Given the description of an element on the screen output the (x, y) to click on. 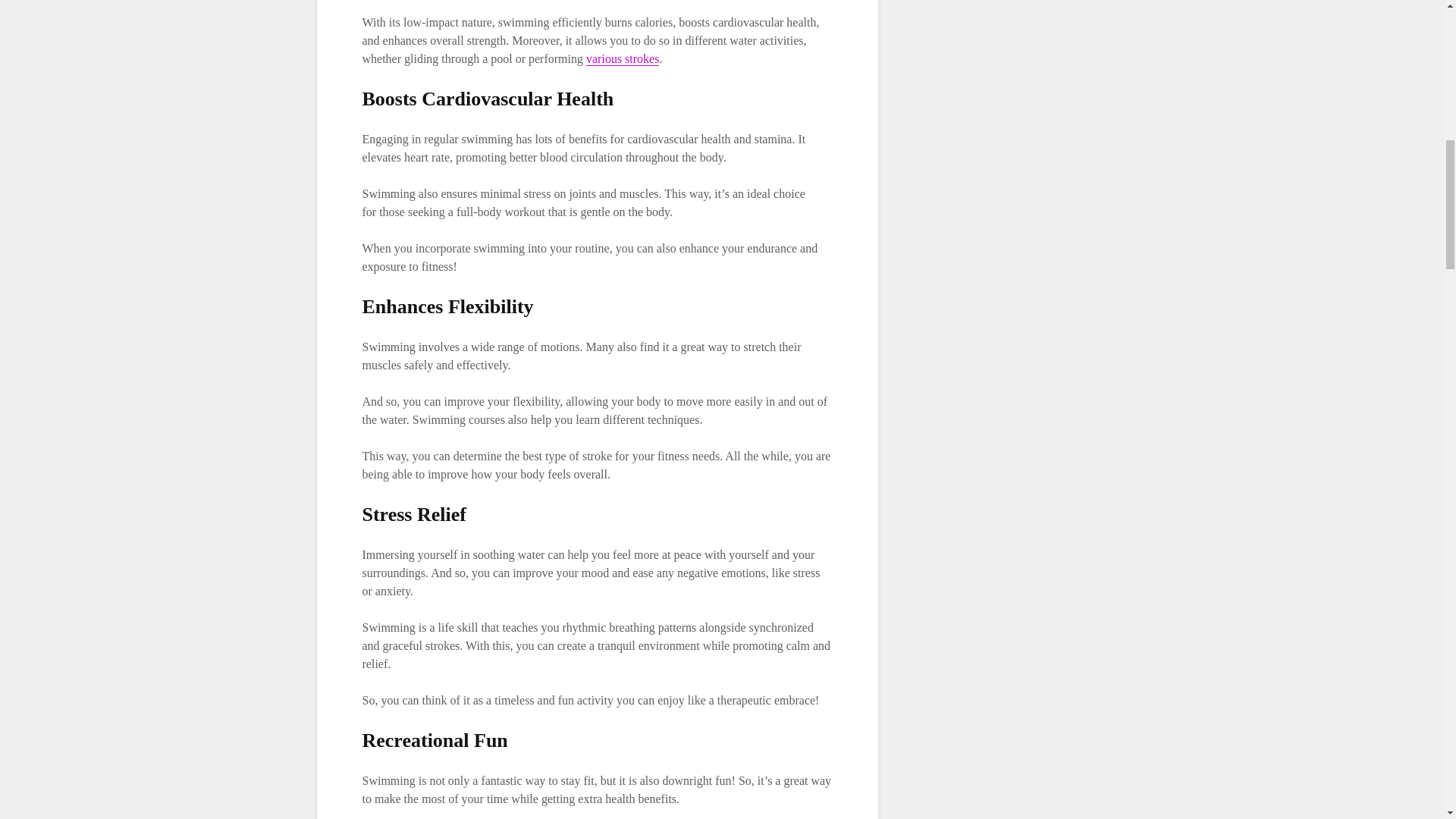
various strokes (622, 59)
